Given the description of an element on the screen output the (x, y) to click on. 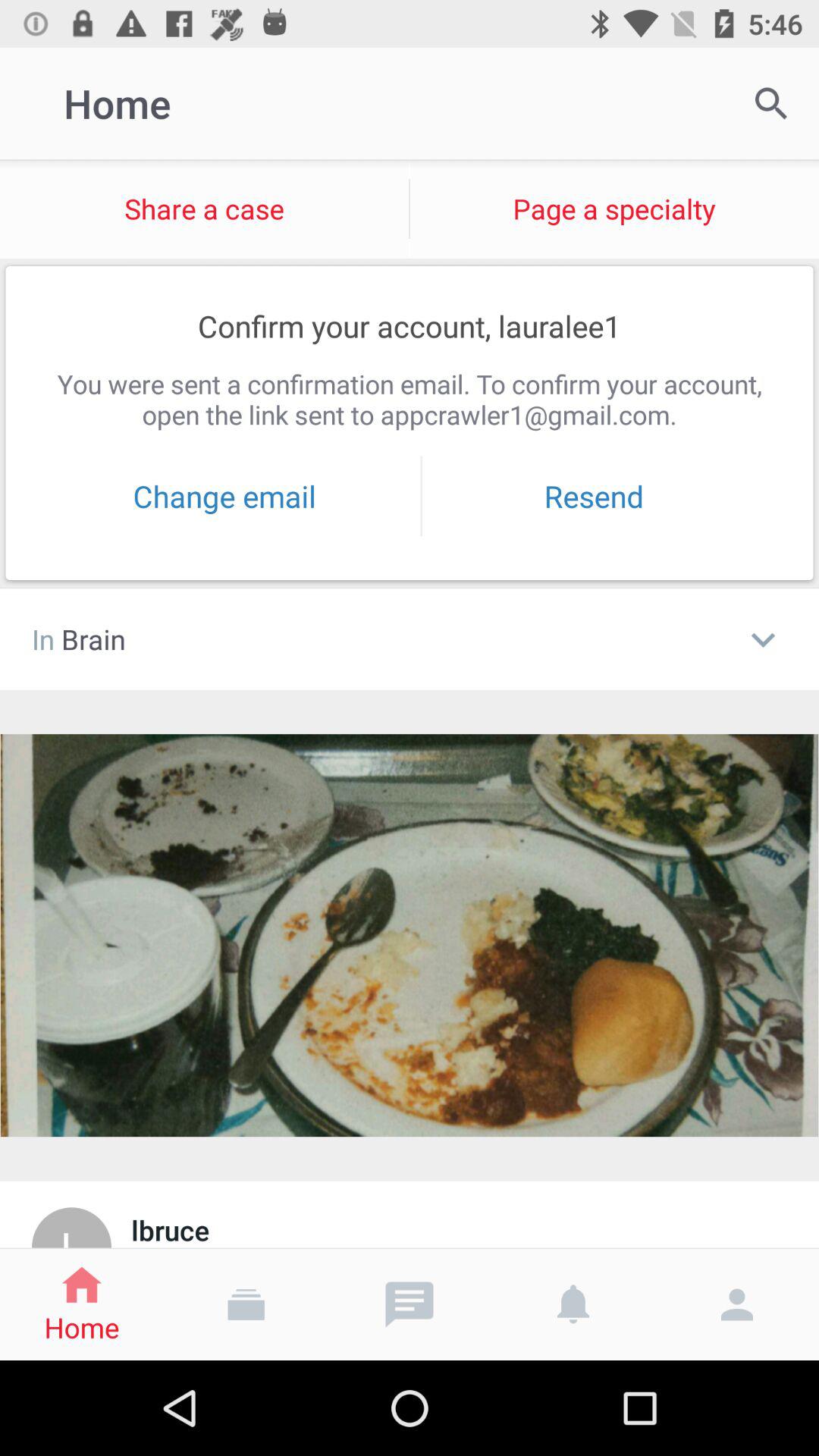
turn on page a specialty icon (614, 208)
